Given the description of an element on the screen output the (x, y) to click on. 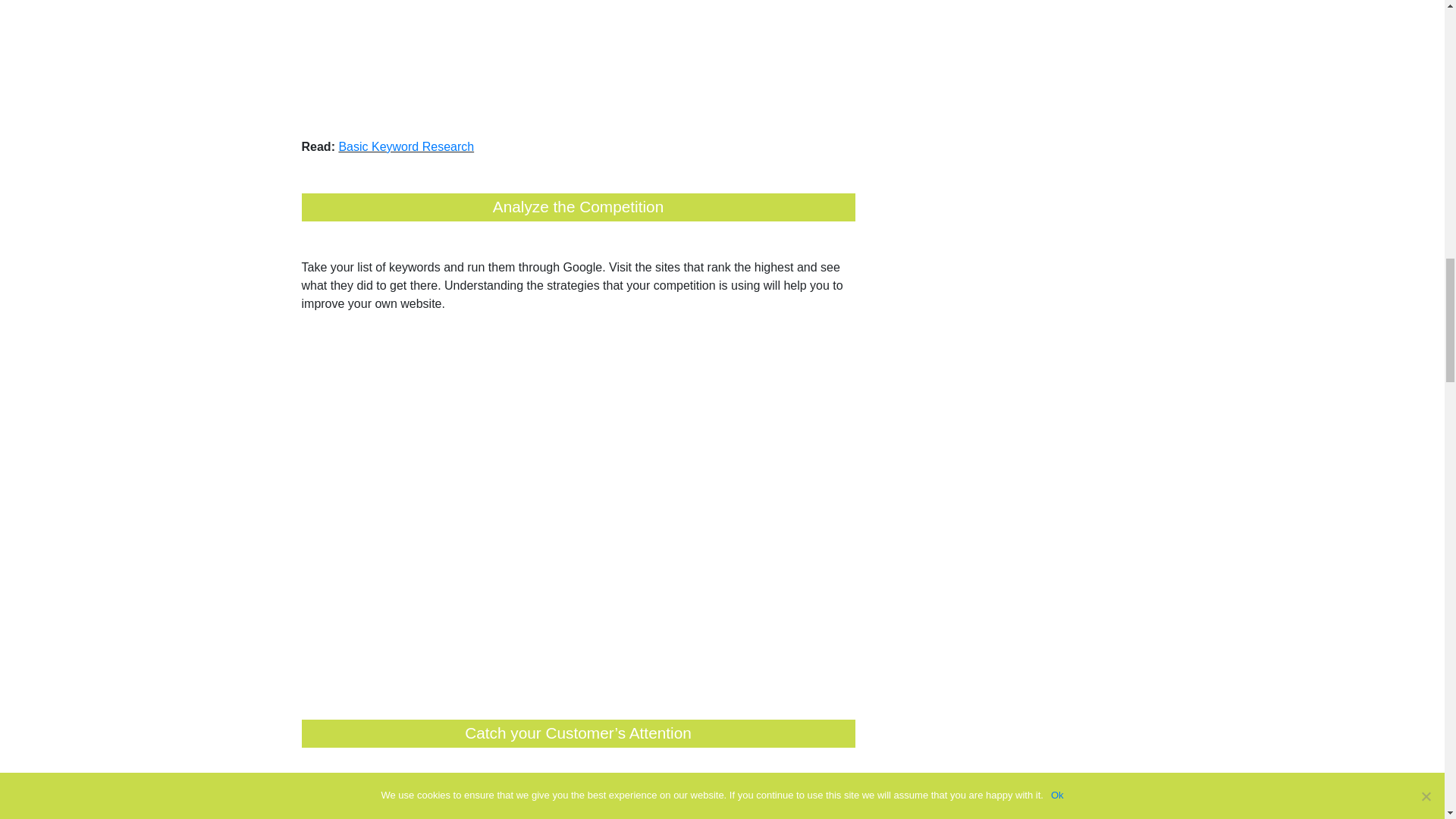
Basic Keyword Research (405, 146)
